Given the description of an element on the screen output the (x, y) to click on. 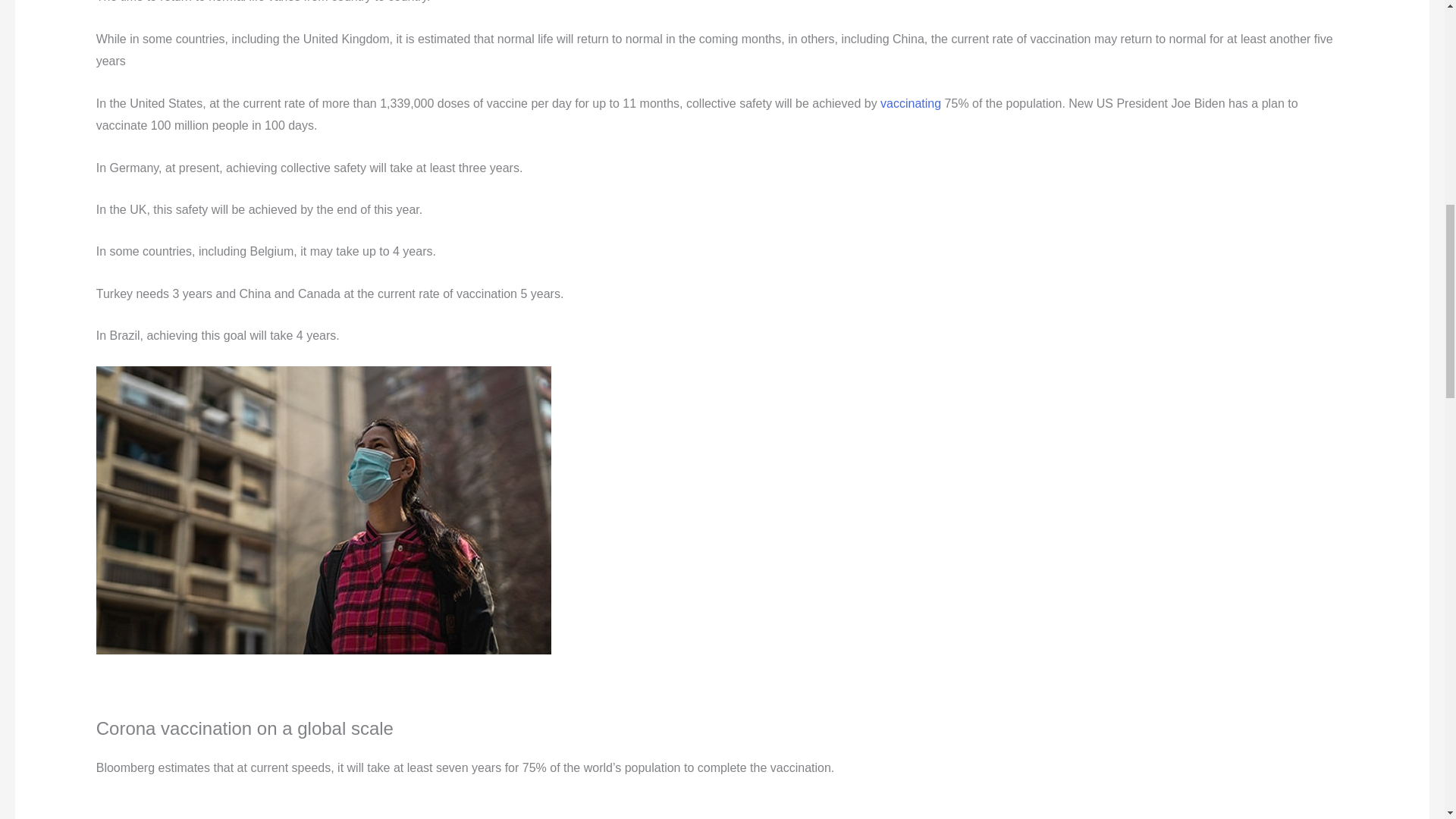
vaccinating (909, 103)
